Given the description of an element on the screen output the (x, y) to click on. 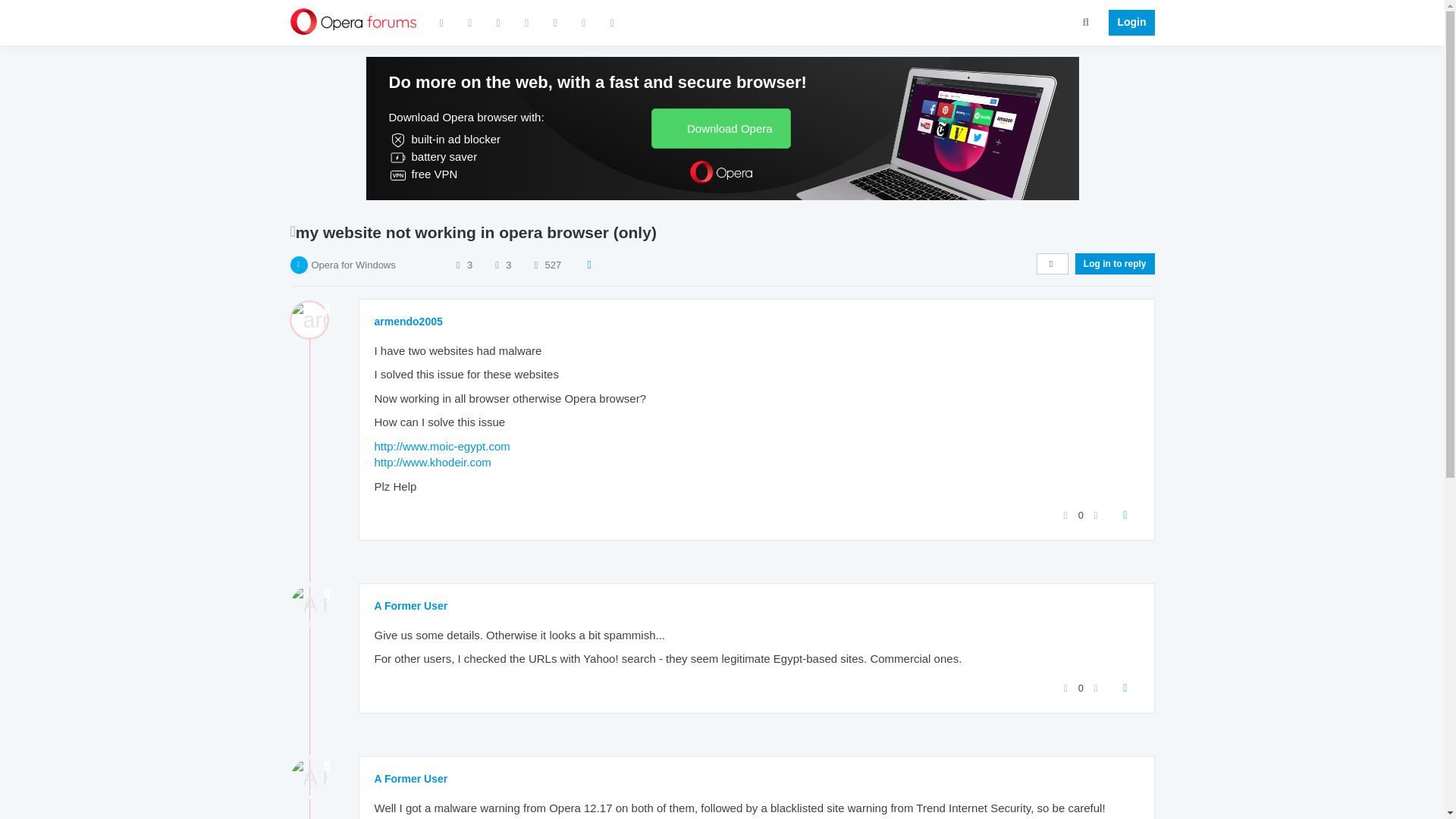
armendo2005 (408, 321)
Views (535, 265)
Opera for Windows (352, 265)
Login (1127, 22)
Search (1085, 21)
Posts (496, 265)
Download Opera (720, 128)
Log in to reply (1114, 263)
Posters (457, 265)
